Given the description of an element on the screen output the (x, y) to click on. 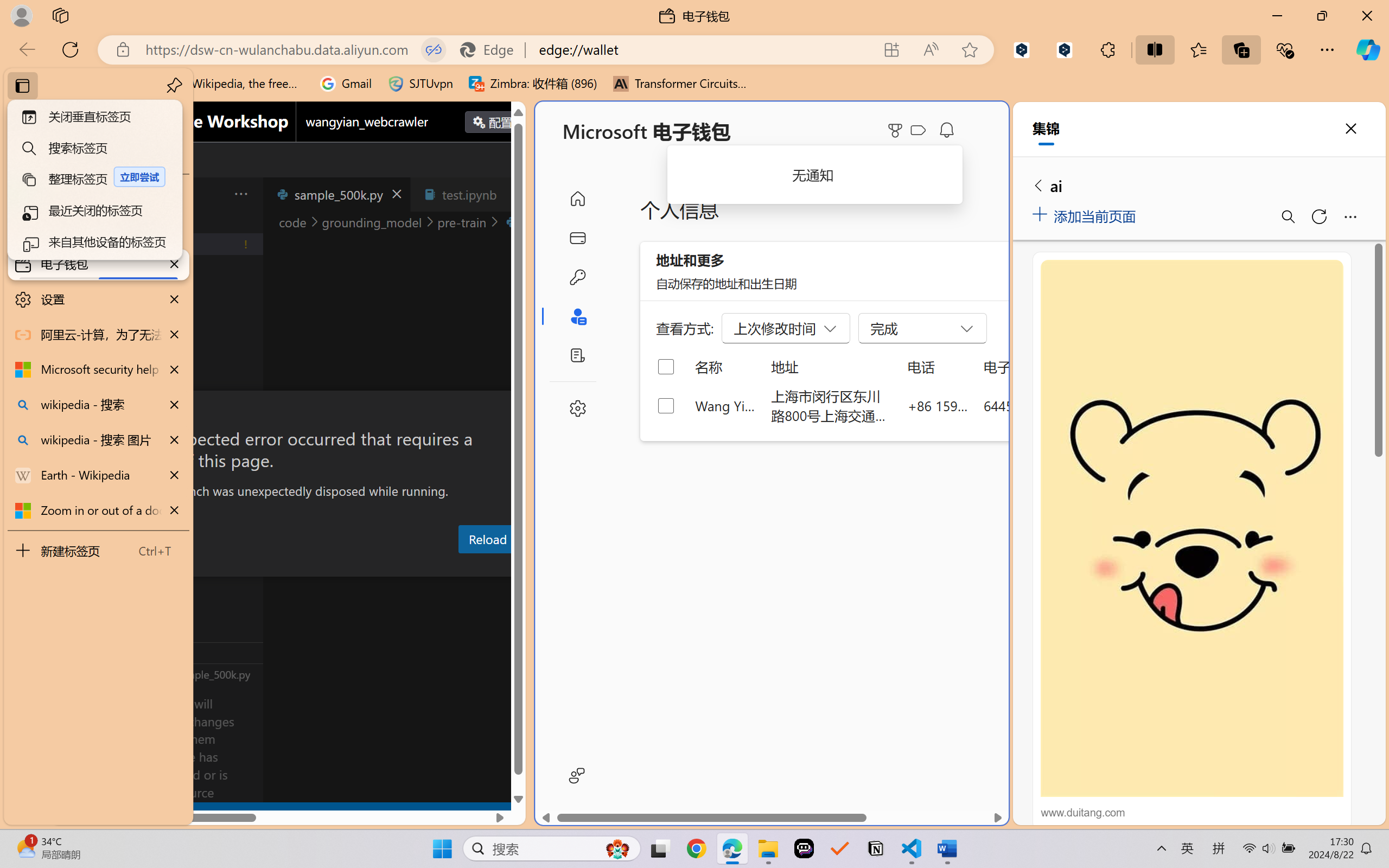
Extensions (Ctrl+Shift+X) (73, 422)
Run and Debug (Ctrl+Shift+D) (73, 375)
Output (Ctrl+Shift+U) (377, 565)
